Given the description of an element on the screen output the (x, y) to click on. 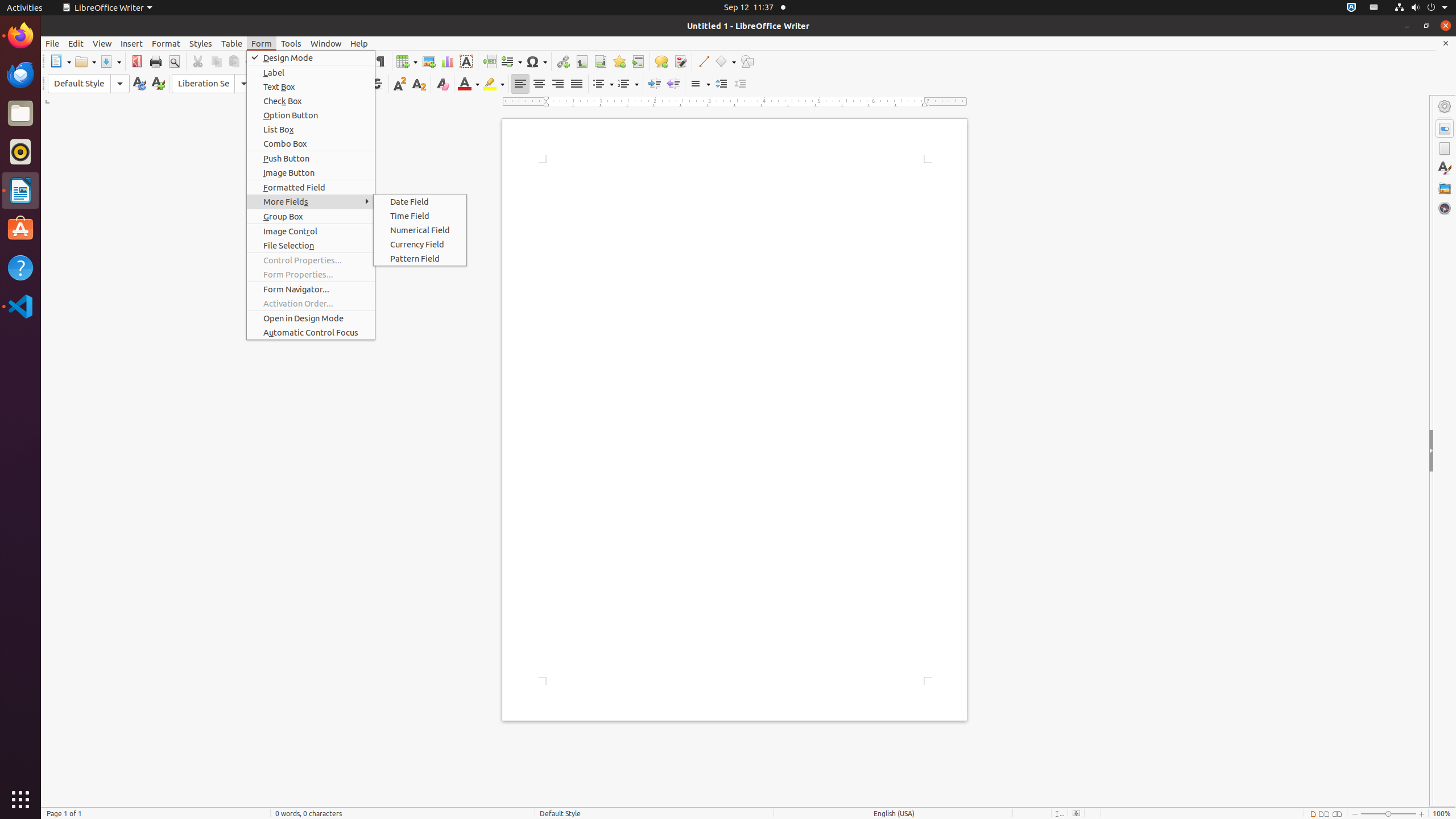
Bookmark Element type: push-button (618, 61)
Left Element type: toggle-button (519, 83)
Undo Element type: push-button (290, 61)
Text Box Element type: push-button (465, 61)
Superscript Element type: toggle-button (399, 83)
